Given the description of an element on the screen output the (x, y) to click on. 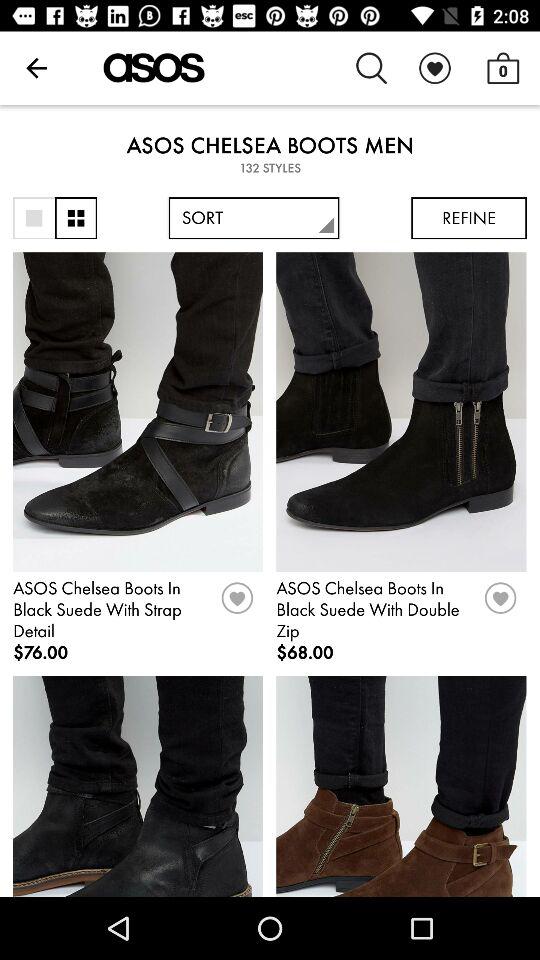
jump to the refine icon (468, 218)
